Given the description of an element on the screen output the (x, y) to click on. 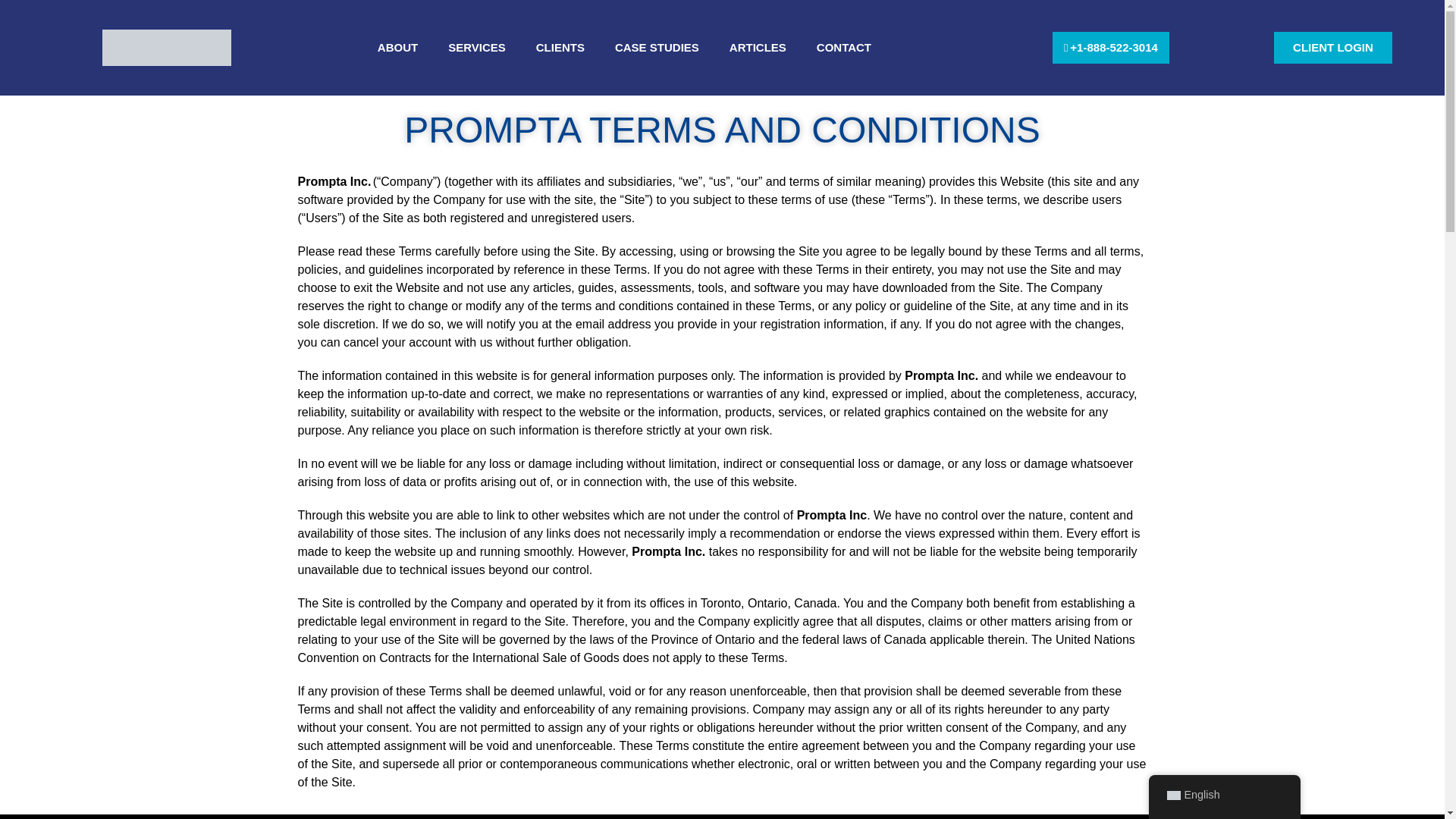
English (1224, 795)
CONTACT (844, 47)
ARTICLES (758, 47)
CLIENTS (560, 47)
CASE STUDIES (656, 47)
English (1172, 795)
ABOUT (397, 47)
CLIENT LOGIN (1332, 47)
SERVICES (476, 47)
